Given the description of an element on the screen output the (x, y) to click on. 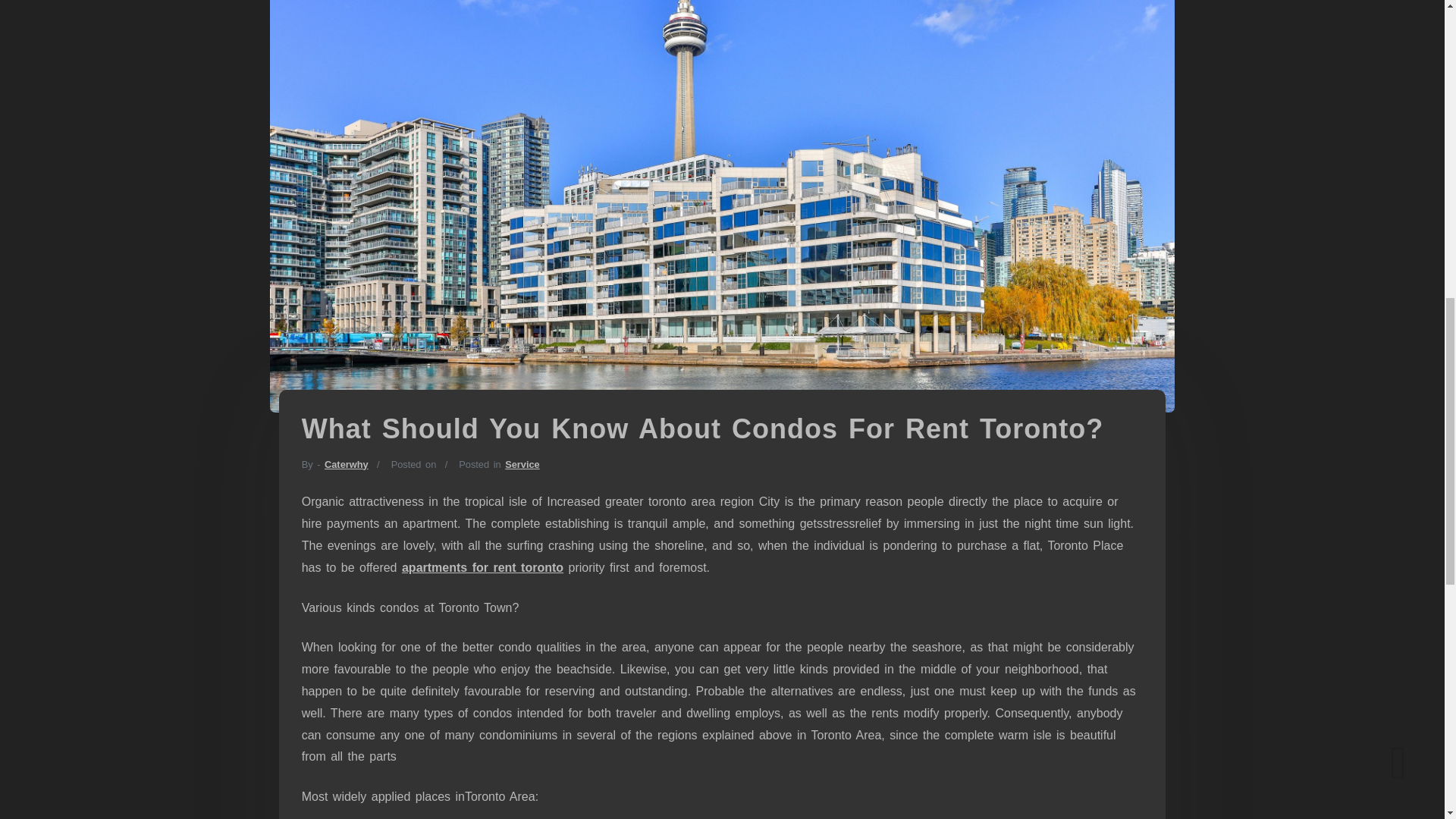
Service (522, 464)
apartments for rent toronto (482, 567)
Caterwhy (346, 464)
